Given the description of an element on the screen output the (x, y) to click on. 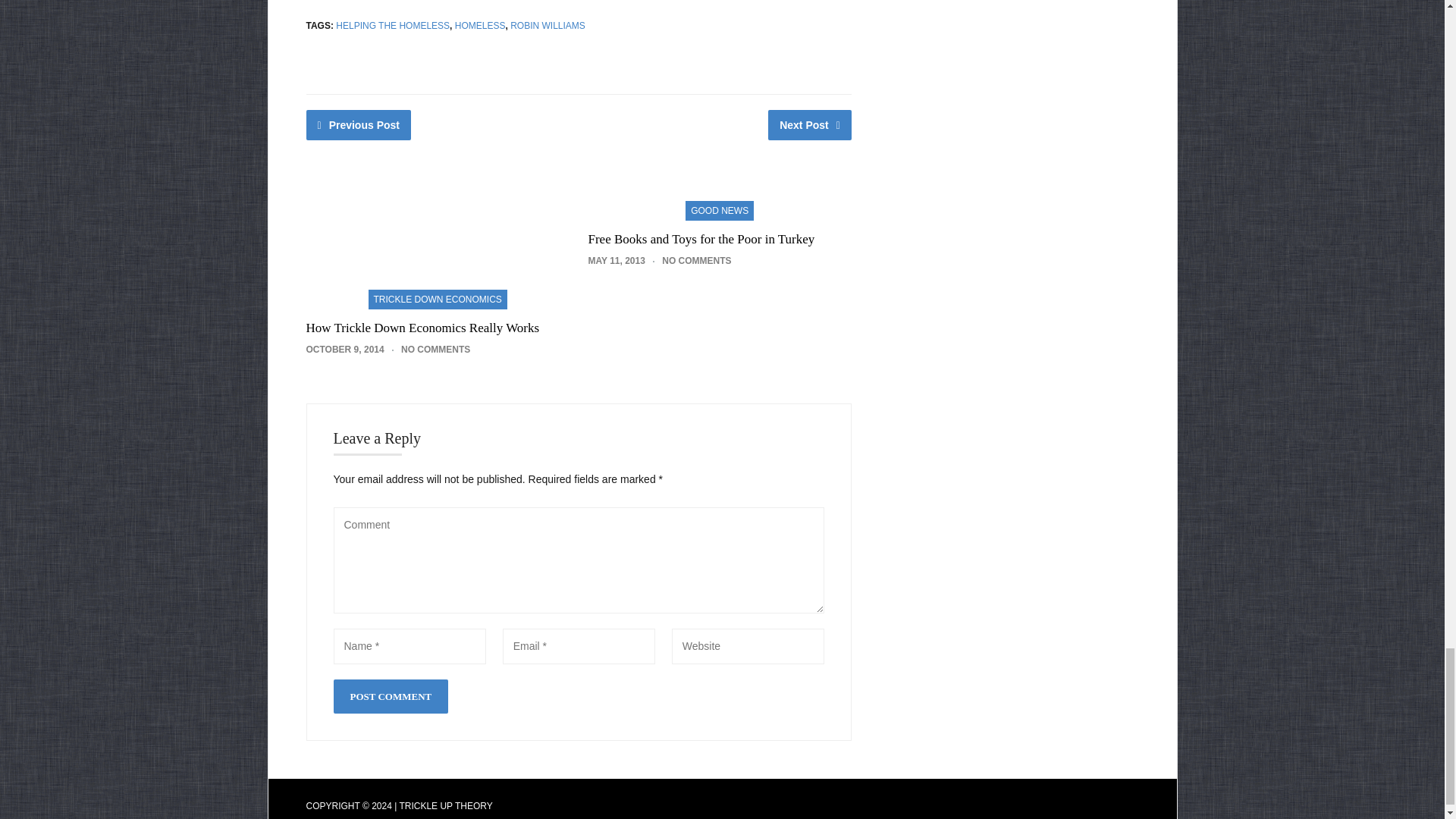
GOOD NEWS (719, 209)
Previous Post (358, 124)
HOMELESS (479, 25)
NO COMMENTS (435, 348)
TERMS OF USAGE (1034, 805)
NO COMMENTS (696, 260)
HELPING THE HOMELESS (392, 25)
Free Books and Toys for the Poor in Turkey (700, 238)
Post Comment (390, 696)
ROBIN WILLIAMS (548, 25)
Post Comment (390, 696)
PRIVACY (955, 805)
How Trickle Down Economics Really Works (422, 327)
ABOUT (901, 805)
Next Post (809, 124)
